Given the description of an element on the screen output the (x, y) to click on. 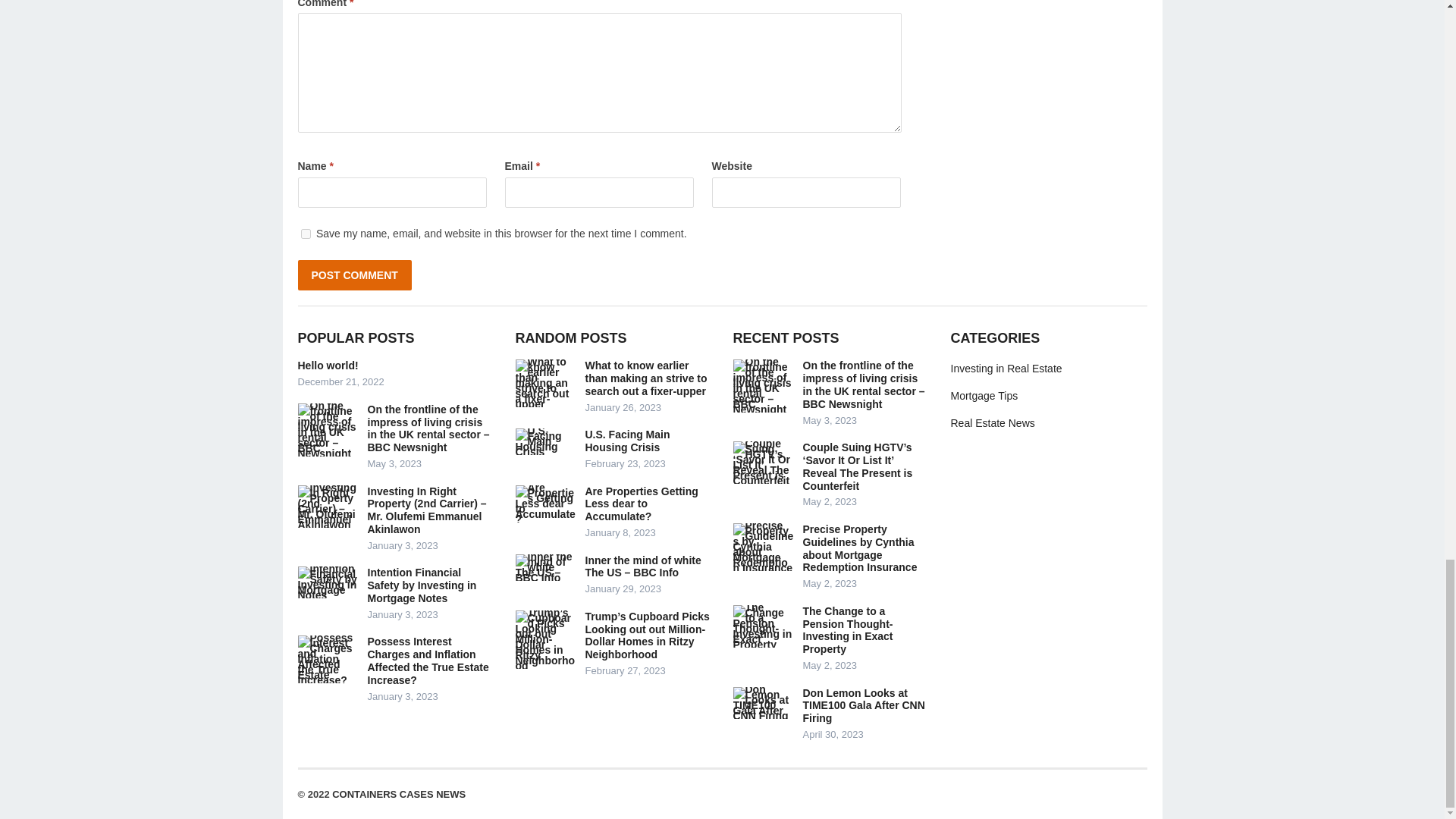
Post Comment (353, 275)
yes (304, 234)
